Given the description of an element on the screen output the (x, y) to click on. 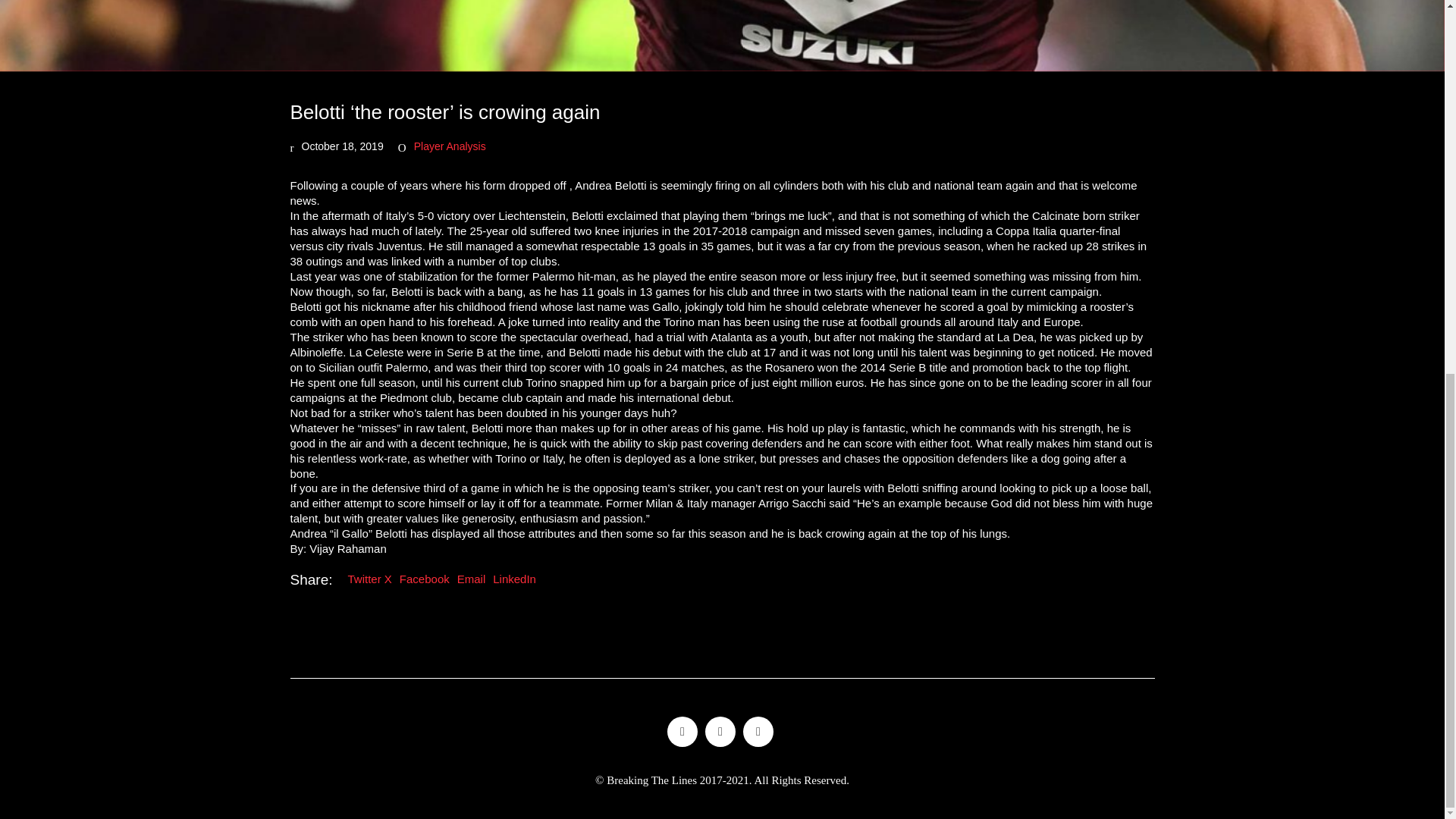
Facebook (719, 731)
YouTube (757, 731)
Twitter (681, 731)
